Given the description of an element on the screen output the (x, y) to click on. 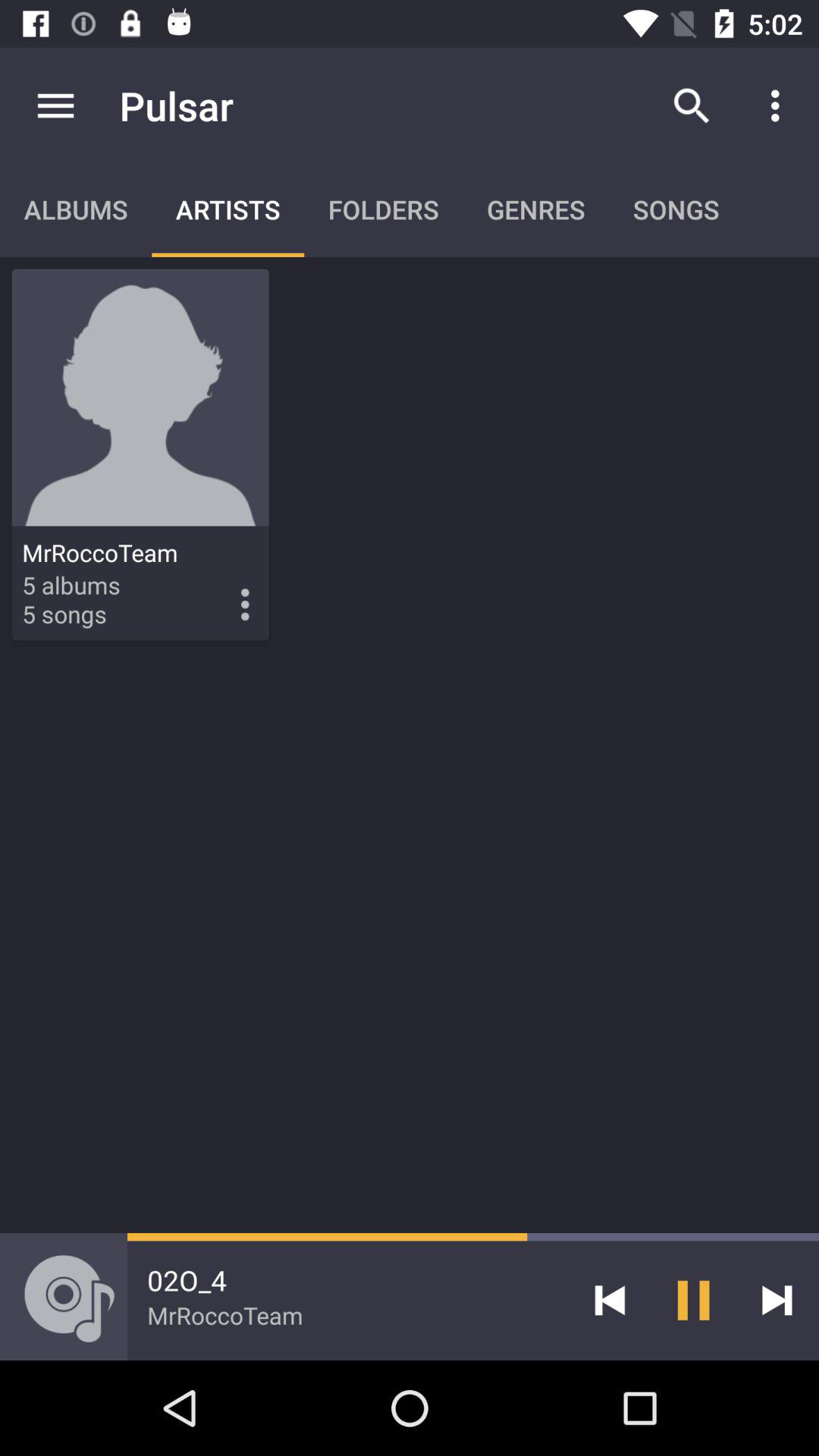
select the icon next to pulsar (55, 105)
